Given the description of an element on the screen output the (x, y) to click on. 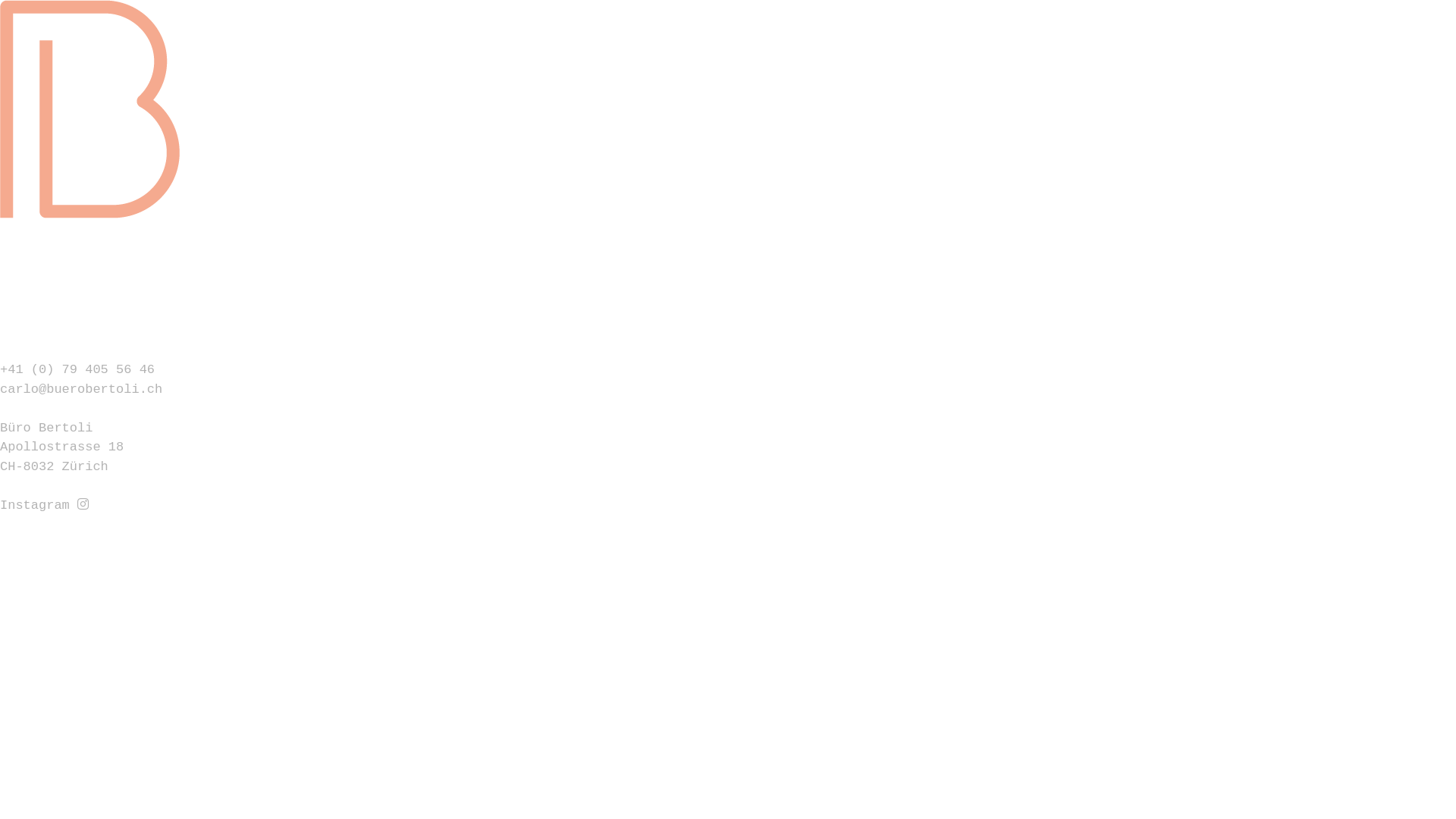
Instagram Element type: text (44, 504)
carlo@buerobertoli.ch Element type: text (81, 389)
Nehmen Sie mit mir Kontakt auf. Element type: text (119, 330)
